Given the description of an element on the screen output the (x, y) to click on. 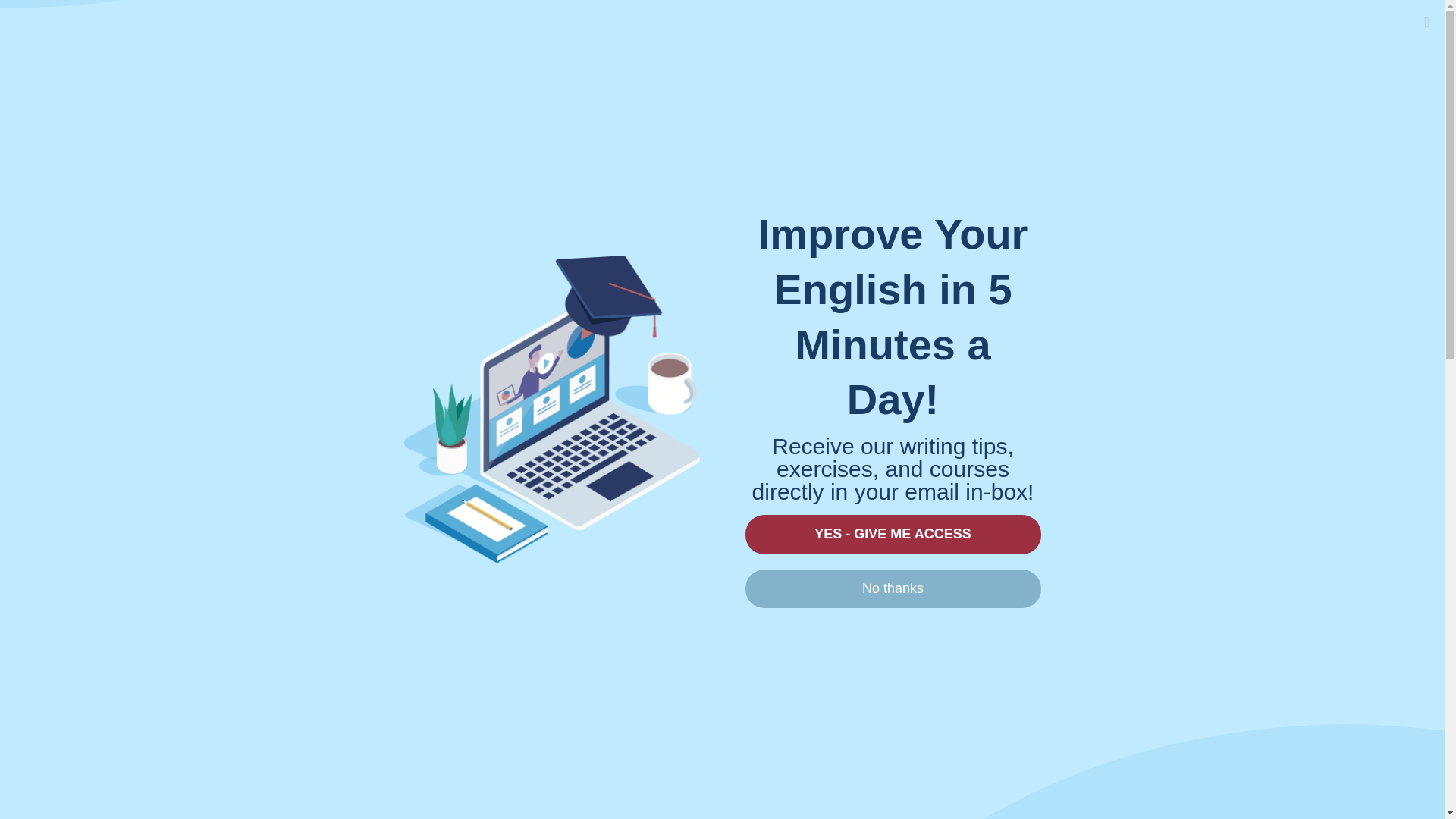
View all posts by Sharon (328, 135)
Popular (837, 26)
Log In (1131, 26)
YES - GIVE ME ACCESS (892, 534)
Book Reviews (1002, 768)
img (740, 711)
Home (777, 26)
Search (1080, 151)
Common Mistakes (1016, 815)
TRY IT FREE NOW (398, 804)
No thanks (892, 588)
Business Writing (1010, 794)
Sharon (328, 135)
